Given the description of an element on the screen output the (x, y) to click on. 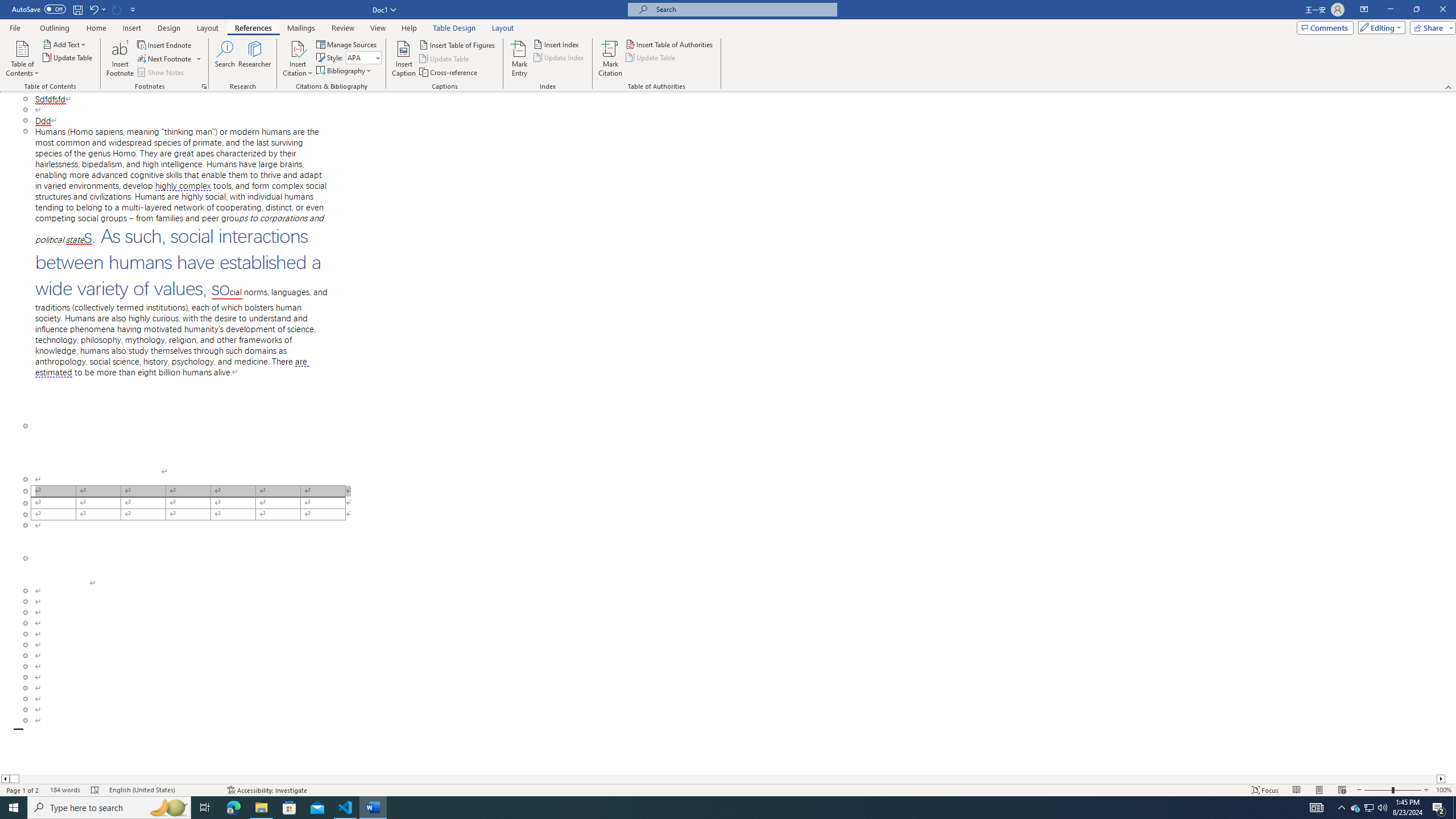
Insert Table of Figures... (458, 44)
Style (360, 57)
Page Number Page 1 of 2 (22, 790)
Researcher (254, 58)
Next Footnote (165, 58)
Undo Outline Move Up (96, 9)
